Given the description of an element on the screen output the (x, y) to click on. 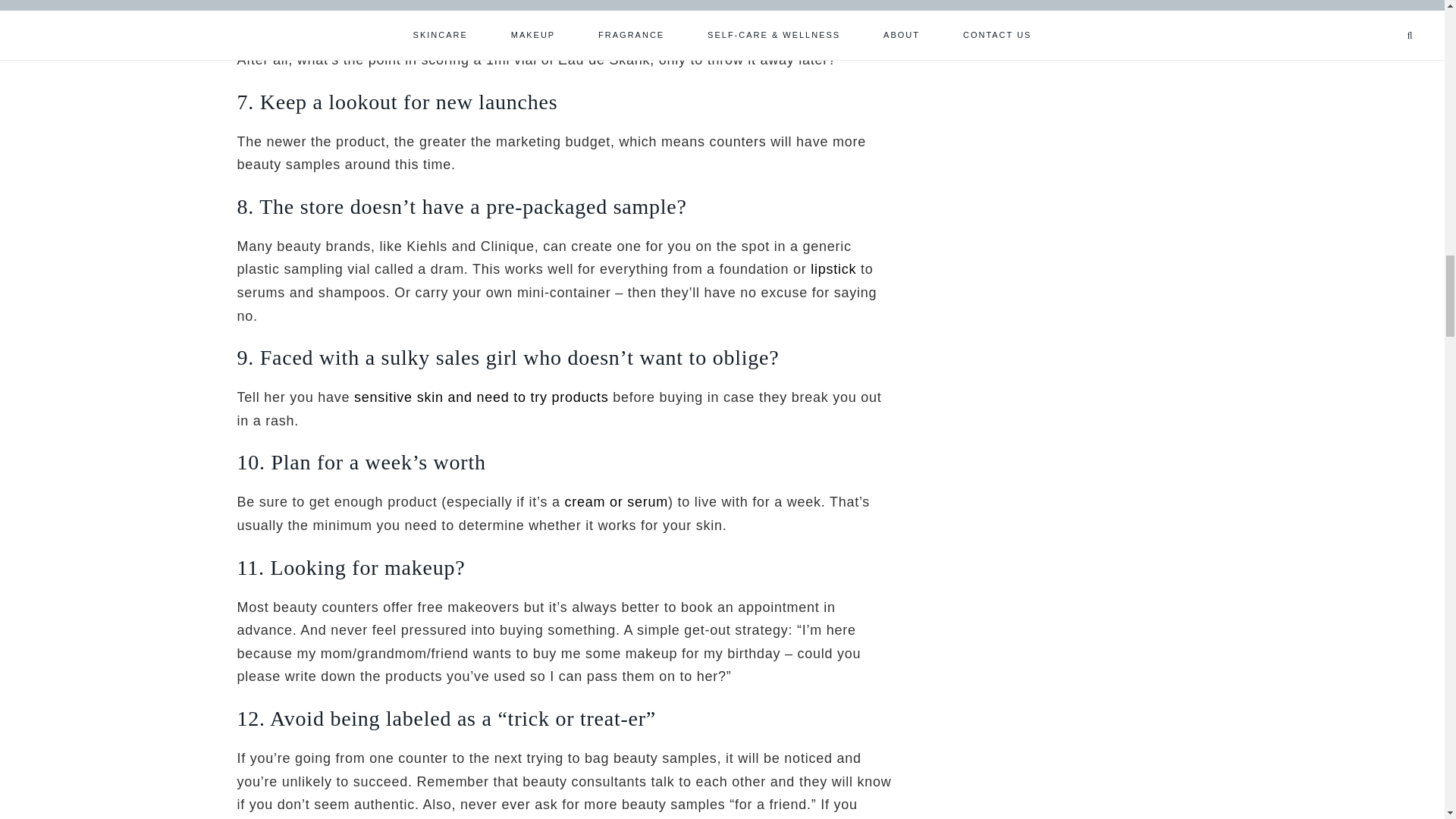
sensitive skin and need to try products (480, 396)
cream or serum (616, 501)
lipstick (833, 268)
